Given the description of an element on the screen output the (x, y) to click on. 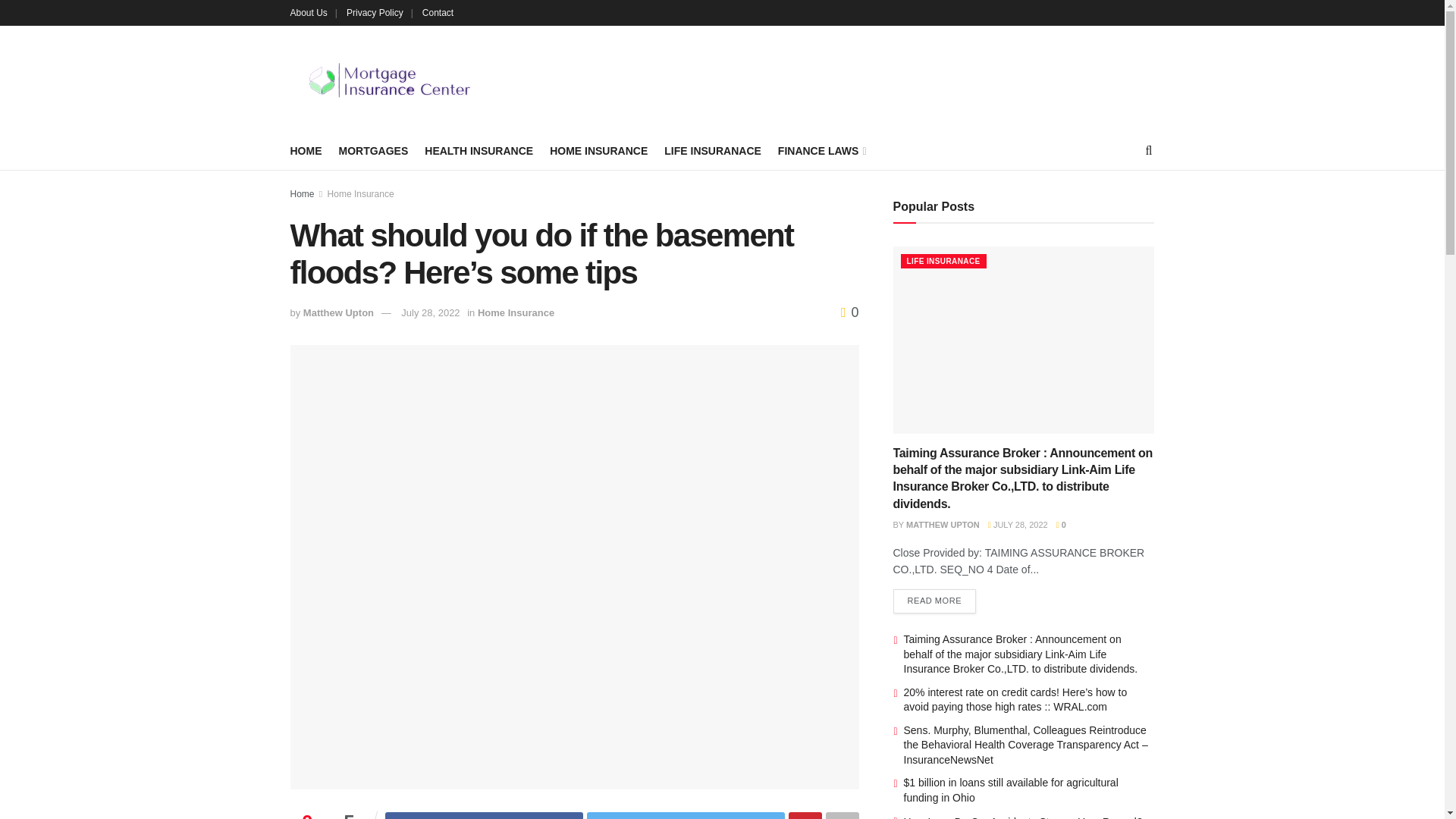
July 28, 2022 (430, 312)
Privacy Policy (379, 12)
0 (850, 312)
MORTGAGES (372, 150)
Contact (437, 12)
FINANCE LAWS (820, 150)
Share on Facebook (484, 815)
LIFE INSURANACE (712, 150)
HEALTH INSURANCE (478, 150)
Matthew Upton (338, 312)
HOME (305, 150)
HOME INSURANCE (598, 150)
Home (301, 194)
Home Insurance (360, 194)
About Us (312, 12)
